Given the description of an element on the screen output the (x, y) to click on. 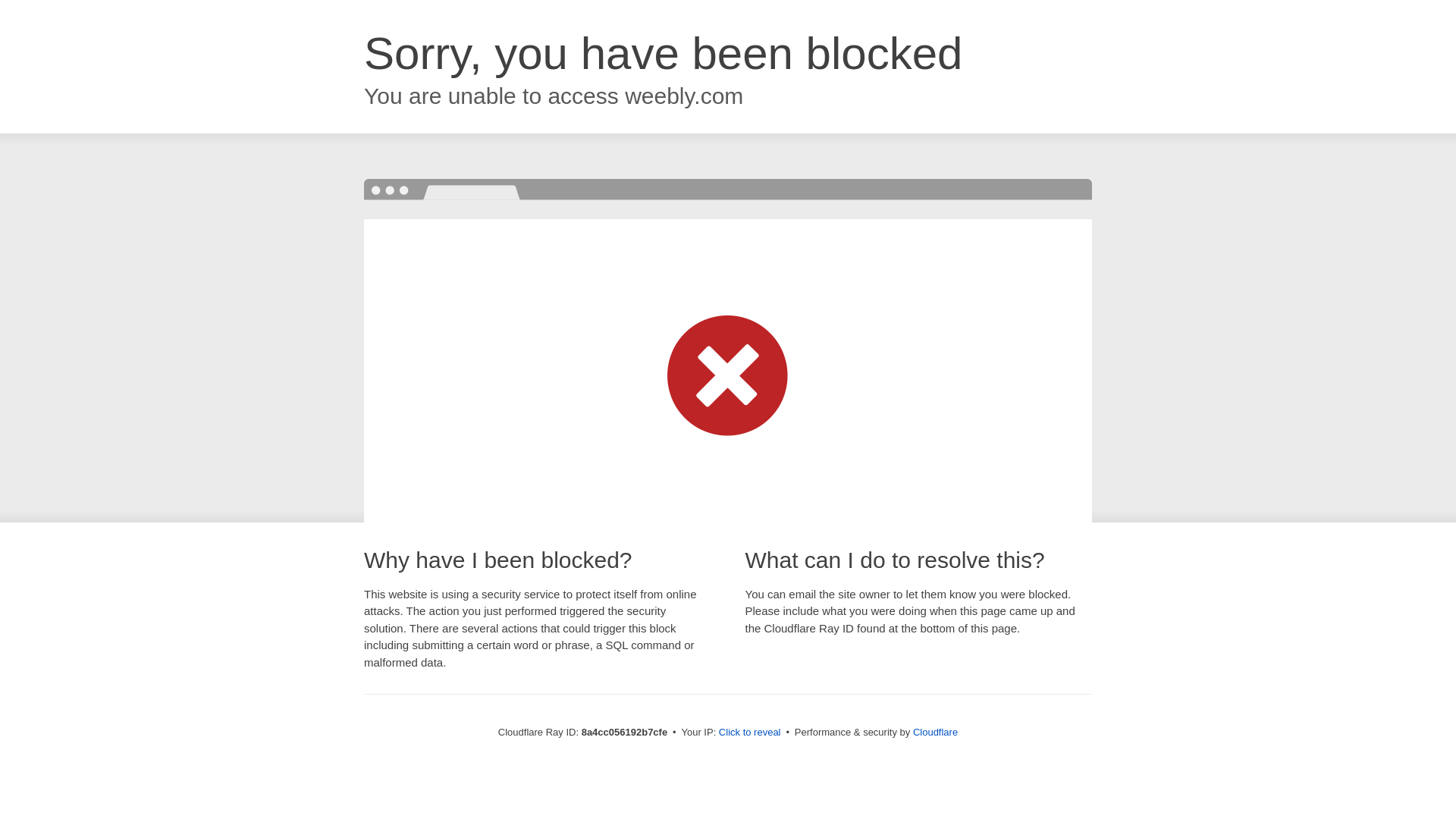
Click to reveal (749, 732)
Cloudflare (935, 731)
